Given the description of an element on the screen output the (x, y) to click on. 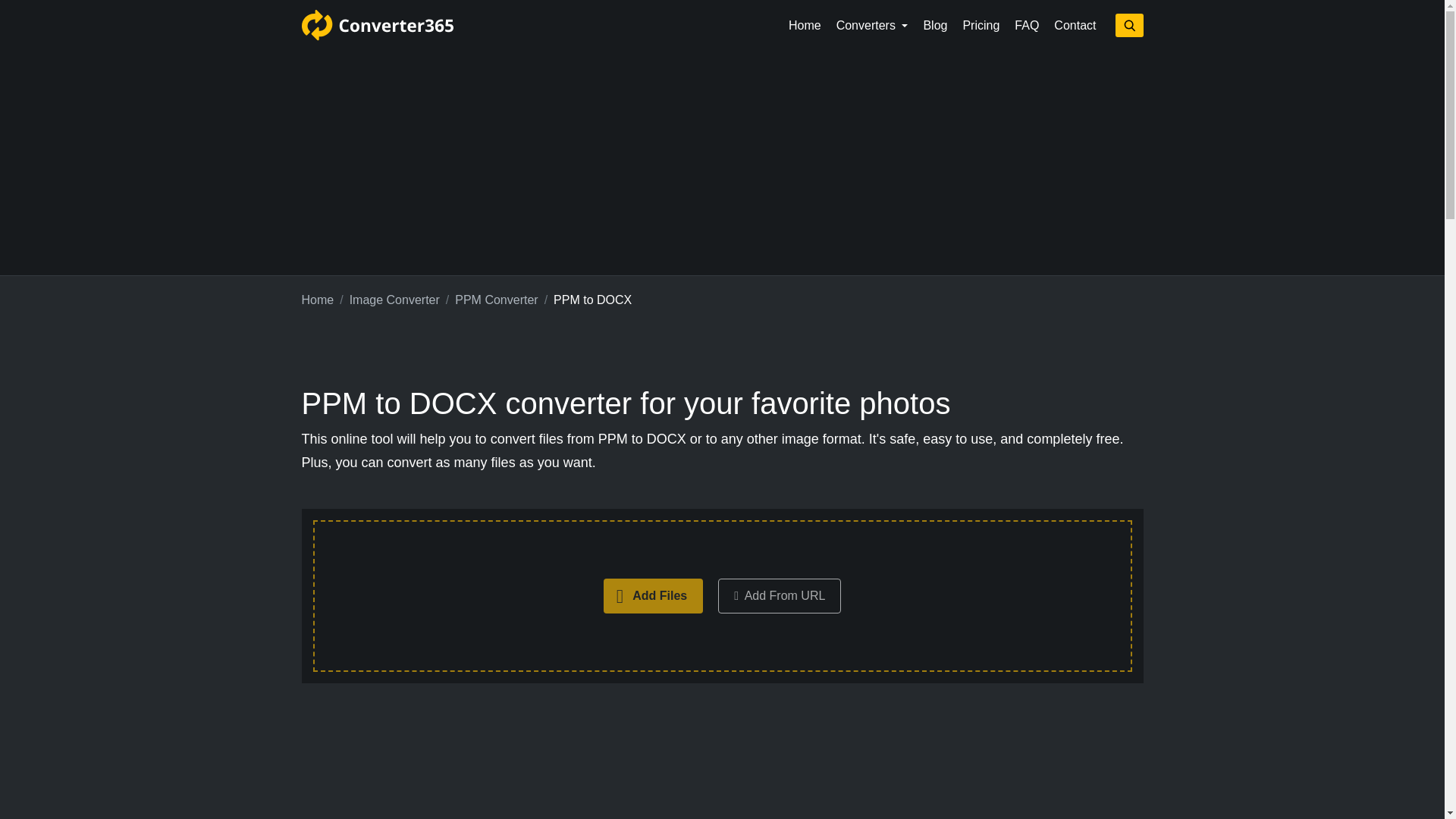
Add file from url (779, 595)
Add files from computer (653, 595)
Converter365 (376, 24)
Contact (1074, 25)
Converters (871, 25)
Image Converter (394, 300)
Search for supported converters (1128, 24)
Blog (935, 25)
Drop files here (721, 595)
FAQ (1026, 25)
